Given the description of an element on the screen output the (x, y) to click on. 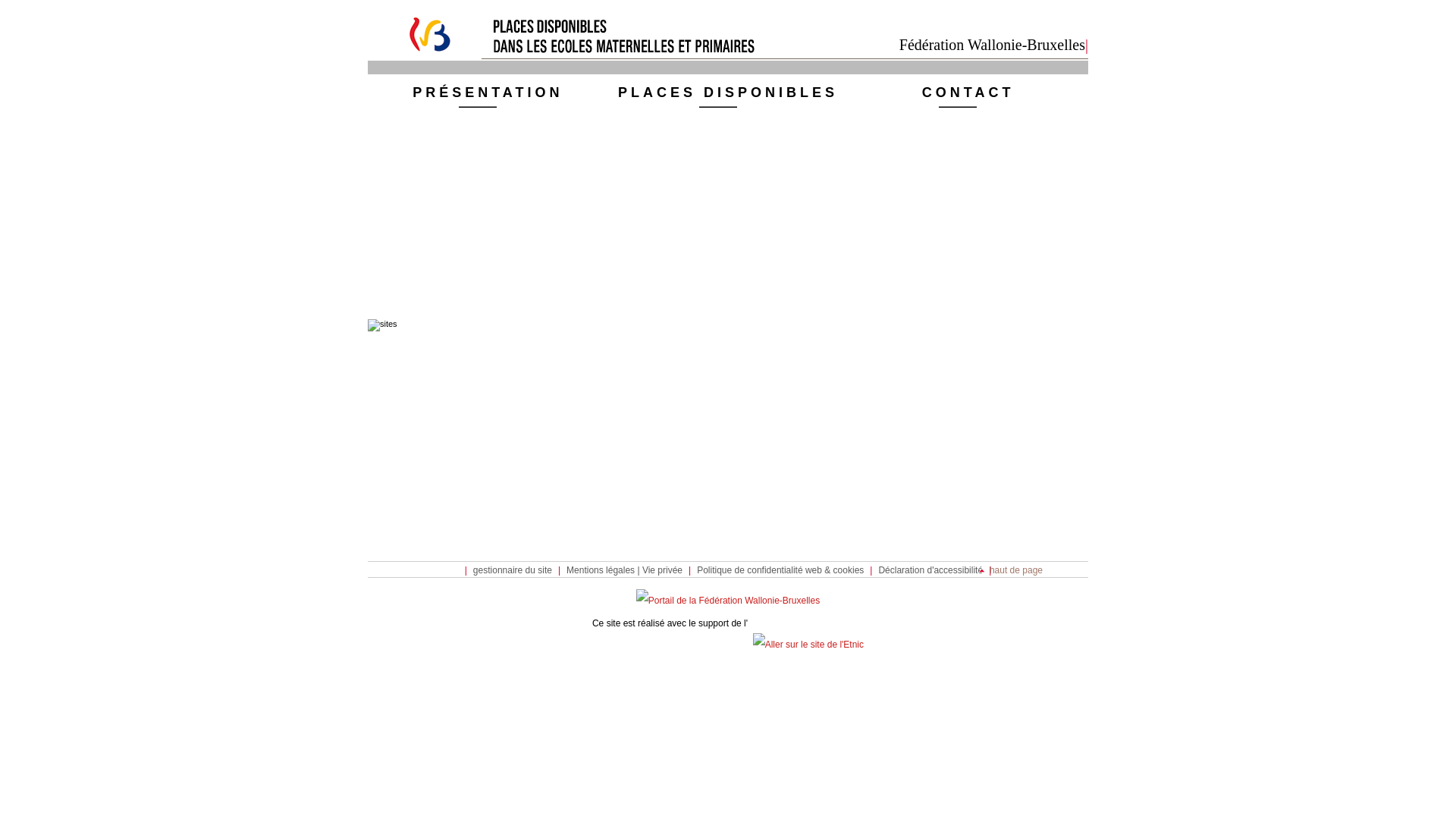
gestionnaire du site Element type: text (512, 569)
CONTACT Element type: text (968, 95)
haut de page Element type: text (1010, 569)
PLACES DISPONIBLES Element type: text (727, 95)
Aller sur le site de l'Etnic Element type: hover (808, 644)
